Given the description of an element on the screen output the (x, y) to click on. 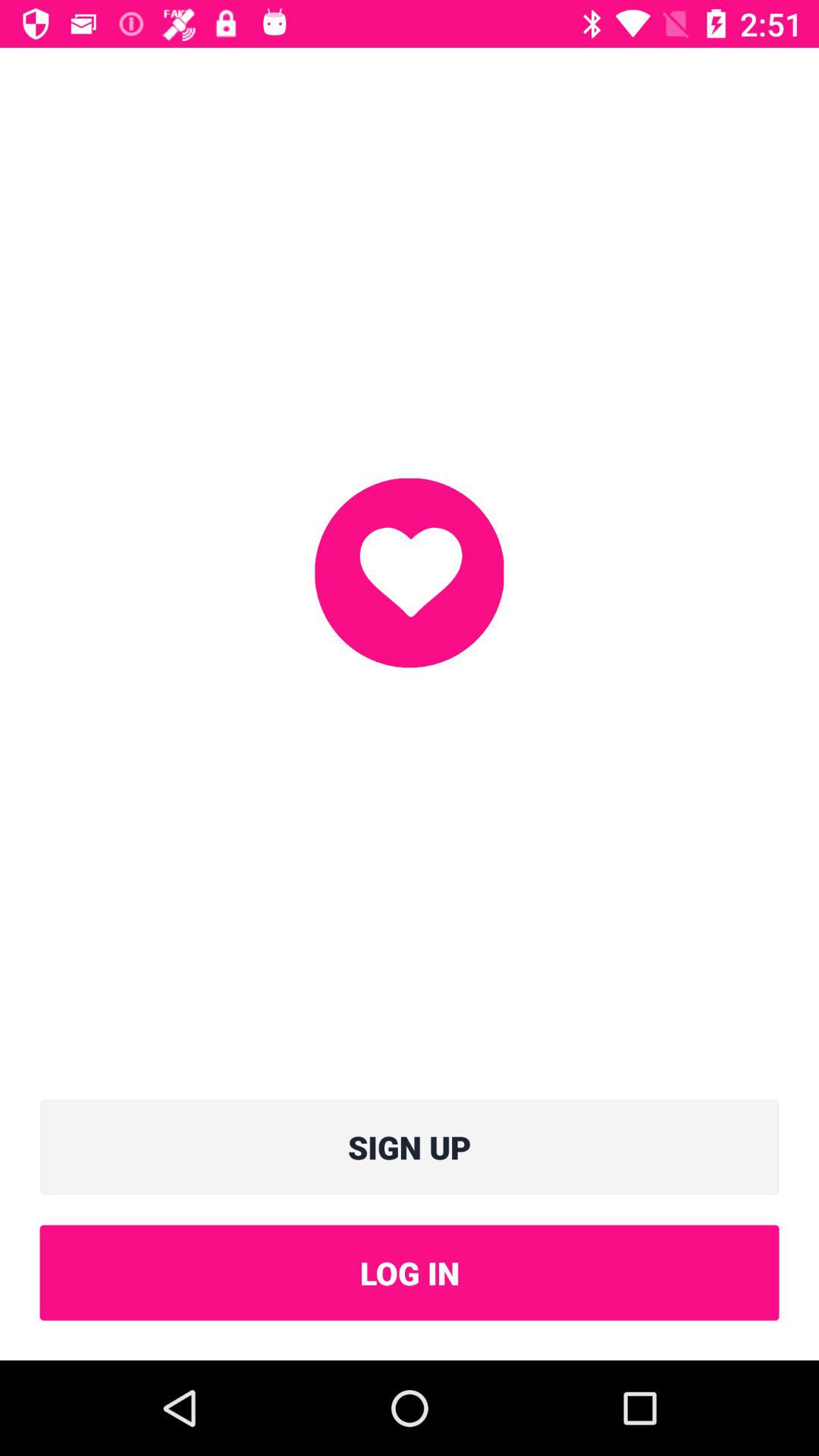
tap item below sign up icon (409, 1272)
